Given the description of an element on the screen output the (x, y) to click on. 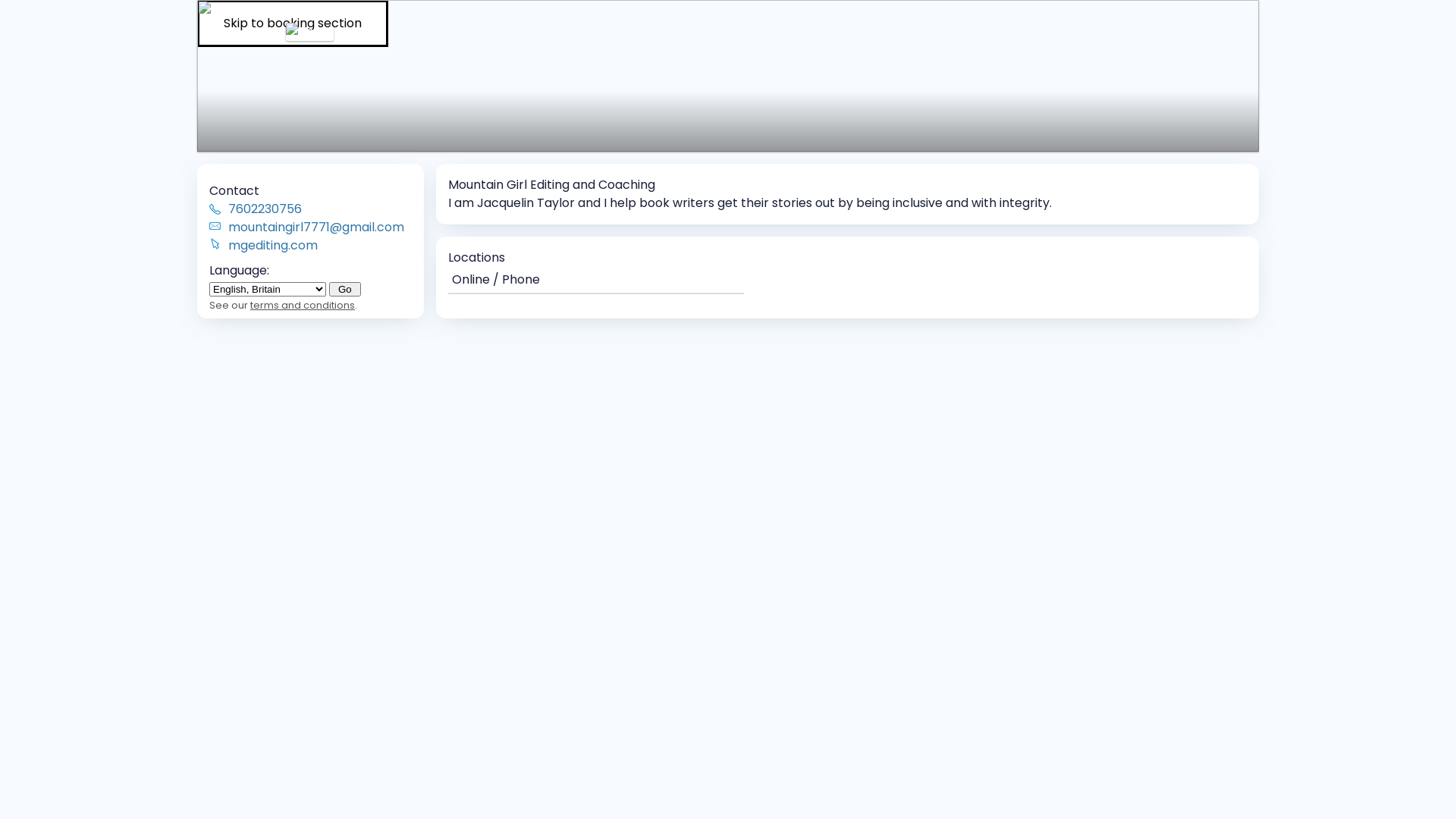
terms and conditions Element type: text (302, 304)
mgediting.com Element type: text (319, 245)
Skip to booking section Element type: text (292, 23)
7602230756 Element type: text (319, 209)
Go Element type: text (344, 289)
mountaingirl7771@gmail.com Element type: text (319, 227)
